Given the description of an element on the screen output the (x, y) to click on. 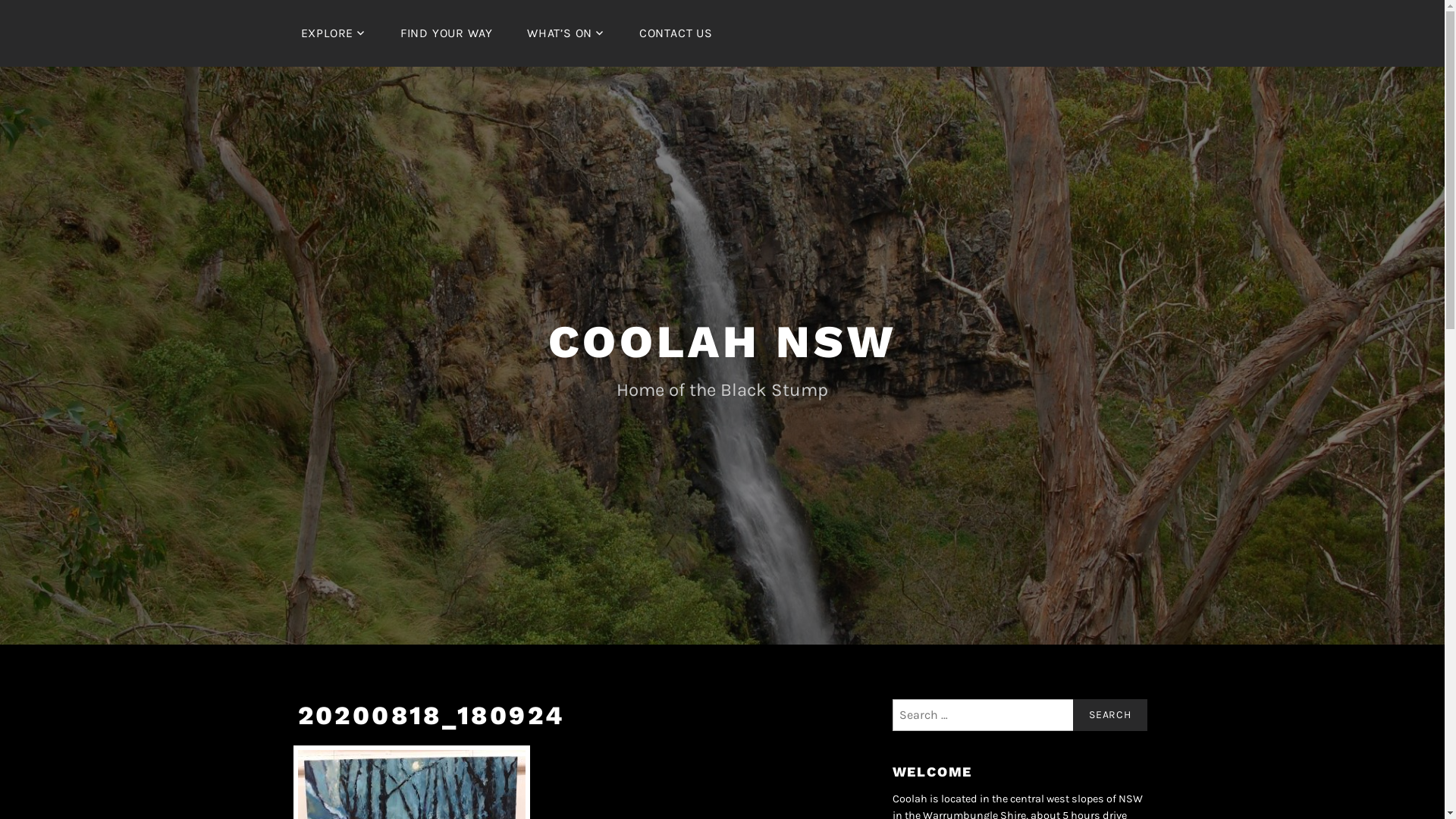
EXPLORE Element type: text (332, 33)
FIND YOUR WAY Element type: text (446, 33)
COOLAH NSW Element type: text (721, 341)
Search Element type: text (1109, 715)
CONTACT US Element type: text (676, 33)
